Given the description of an element on the screen output the (x, y) to click on. 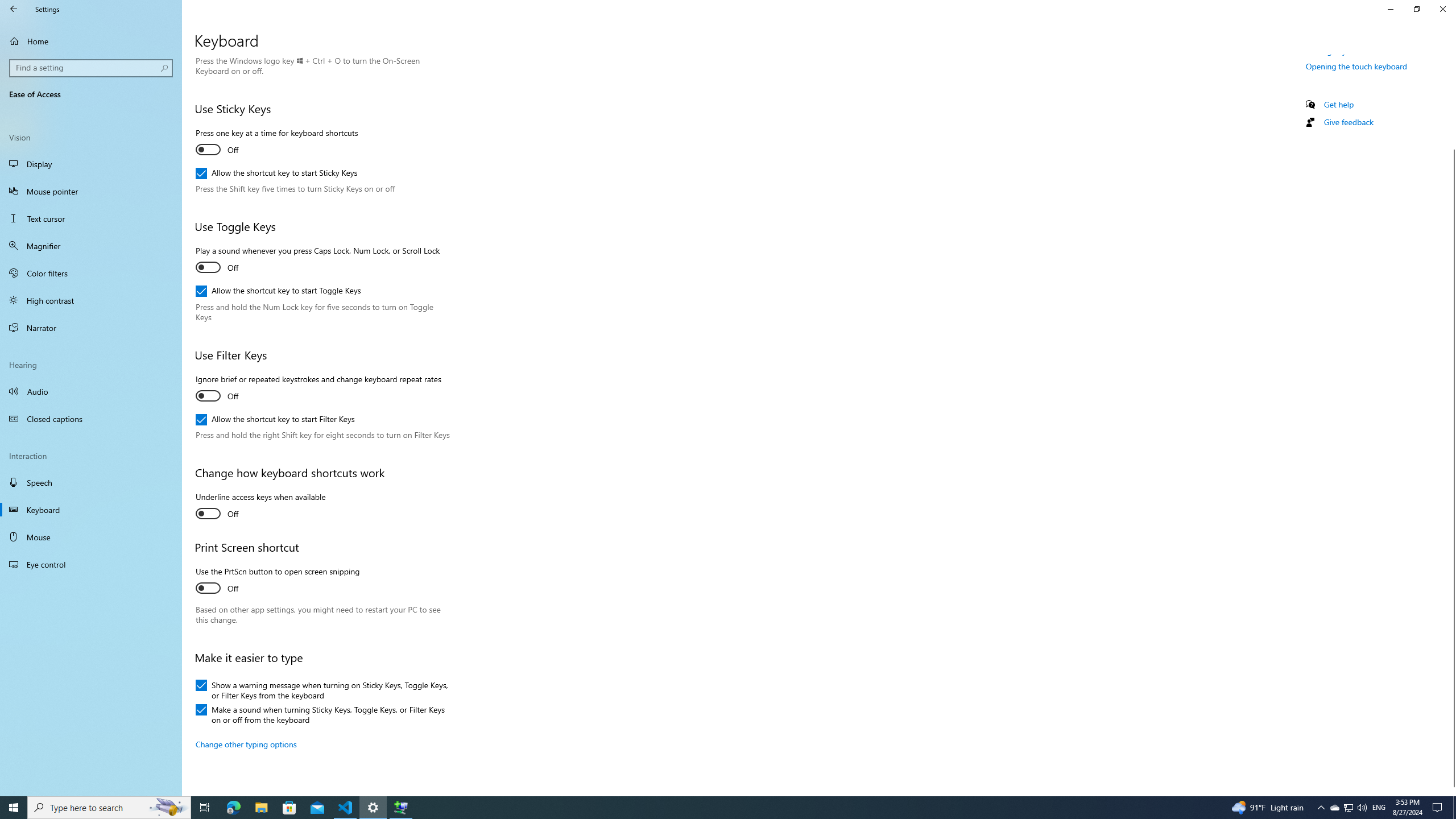
Narrator (91, 327)
Notification Chevron (1320, 807)
Display (91, 163)
Audio (91, 390)
Get help (1338, 104)
Type here to search (108, 807)
Vertical Small Decrease (1451, 58)
Microsoft Edge (233, 807)
Allow the shortcut key to start Sticky Keys (276, 173)
Settings - 1 running window (373, 807)
Close Settings (1442, 9)
Press one key at a time for keyboard shortcuts (276, 142)
Opening the touch keyboard (1356, 66)
Vertical (1451, 425)
